Given the description of an element on the screen output the (x, y) to click on. 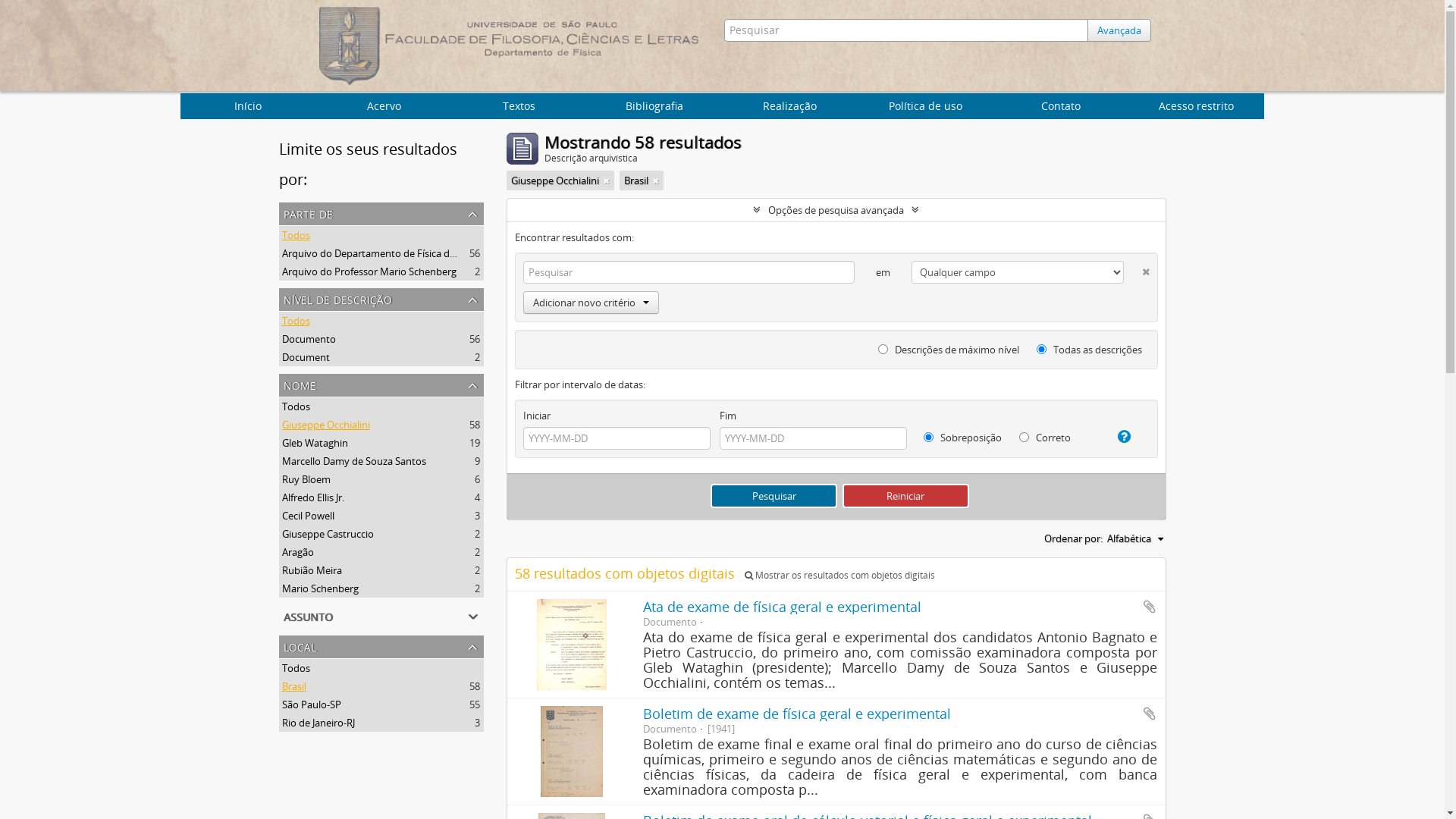
Acervo Element type: text (383, 106)
Documento Element type: text (308, 338)
Pesquisar Element type: text (773, 495)
Bibliografia Element type: text (654, 106)
Alfredo Ellis Jr. Element type: text (313, 497)
Textos Element type: text (518, 106)
Marcello Damy de Souza Santos Element type: text (354, 460)
Rio de Janeiro-RJ Element type: text (318, 722)
Todos Element type: text (296, 406)
Giuseppe Castruccio Element type: text (327, 533)
Mario Schenberg Element type: text (320, 588)
Acesso restrito Element type: text (1196, 106)
Brasil Element type: text (294, 686)
Arquivo do Professor Mario Schenberg Element type: text (369, 271)
parte de Element type: text (381, 213)
Todos Element type: text (296, 667)
nome Element type: text (381, 384)
Ruy Bloem Element type: text (306, 479)
local Element type: text (381, 646)
Cecil Powell Element type: text (308, 515)
assunto Element type: text (381, 616)
Todos Element type: text (296, 234)
Giuseppe Occhialini Element type: text (326, 424)
Mostrar os resultados com objetos digitais Element type: text (839, 574)
Gleb Wataghin Element type: text (315, 442)
Document Element type: text (305, 357)
Contato Element type: text (1061, 106)
Todos Element type: text (296, 320)
